Given the description of an element on the screen output the (x, y) to click on. 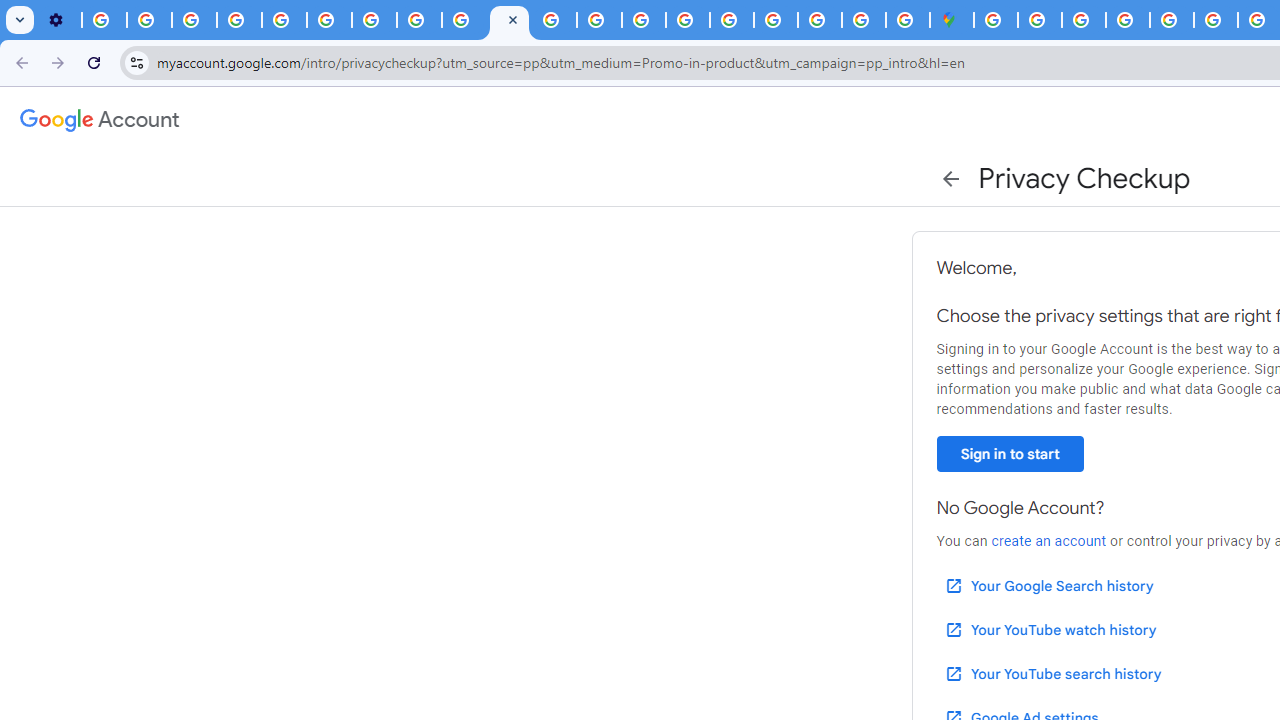
Privacy Help Center - Policies Help (599, 20)
Sign in - Google Accounts (775, 20)
Delete photos & videos - Computer - Google Photos Help (103, 20)
Sign in - Google Accounts (1039, 20)
Terms and Conditions (1215, 20)
Your Google Search history (1048, 586)
Terms and Conditions (1171, 20)
